Given the description of an element on the screen output the (x, y) to click on. 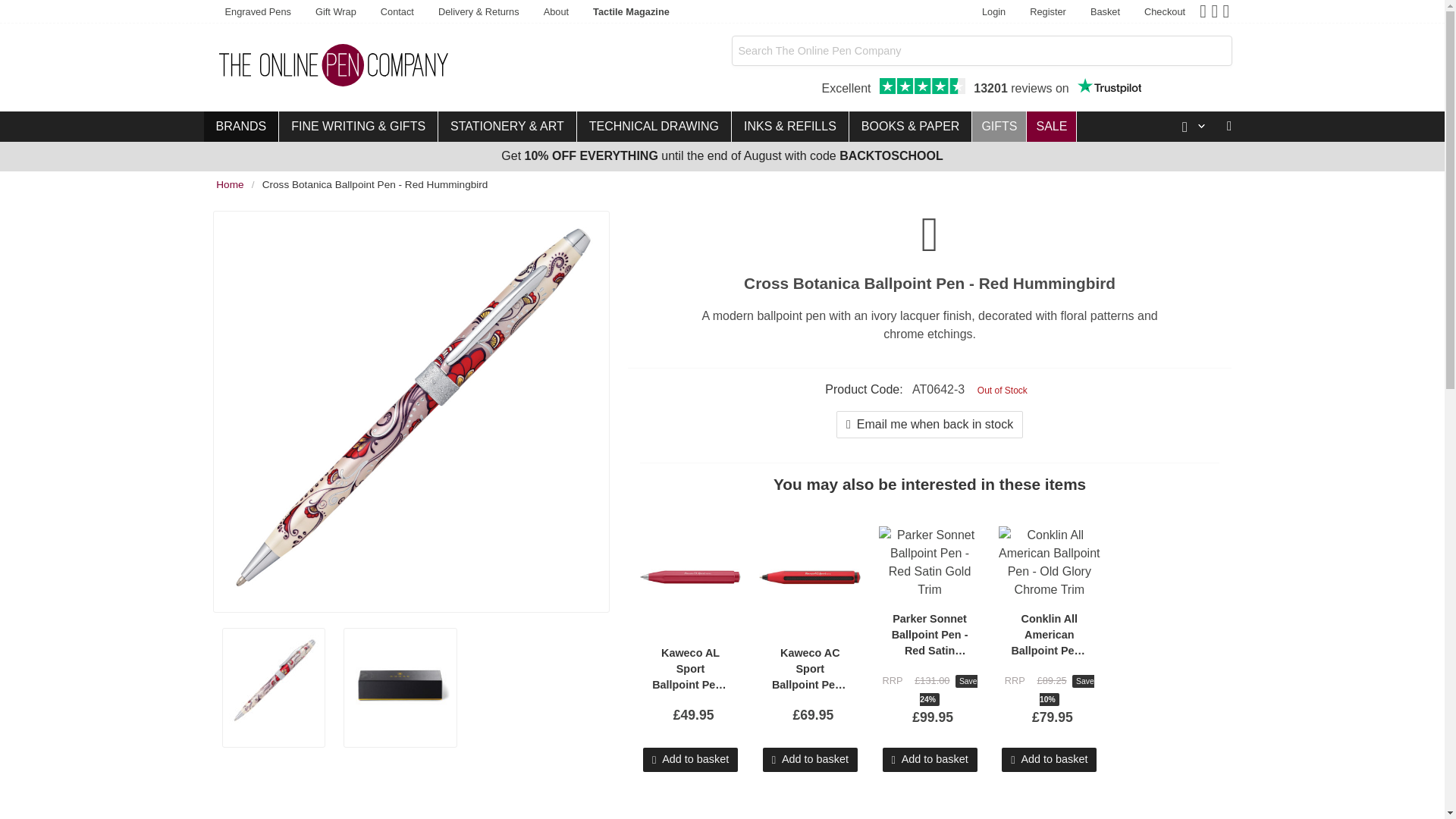
Gift Wrap (335, 11)
Basket (980, 88)
About (1105, 11)
Trustpilot (555, 11)
Engraved Pens (1109, 85)
Login (257, 11)
Checkout (993, 11)
Contact (1164, 11)
BRANDS (397, 11)
